Given the description of an element on the screen output the (x, y) to click on. 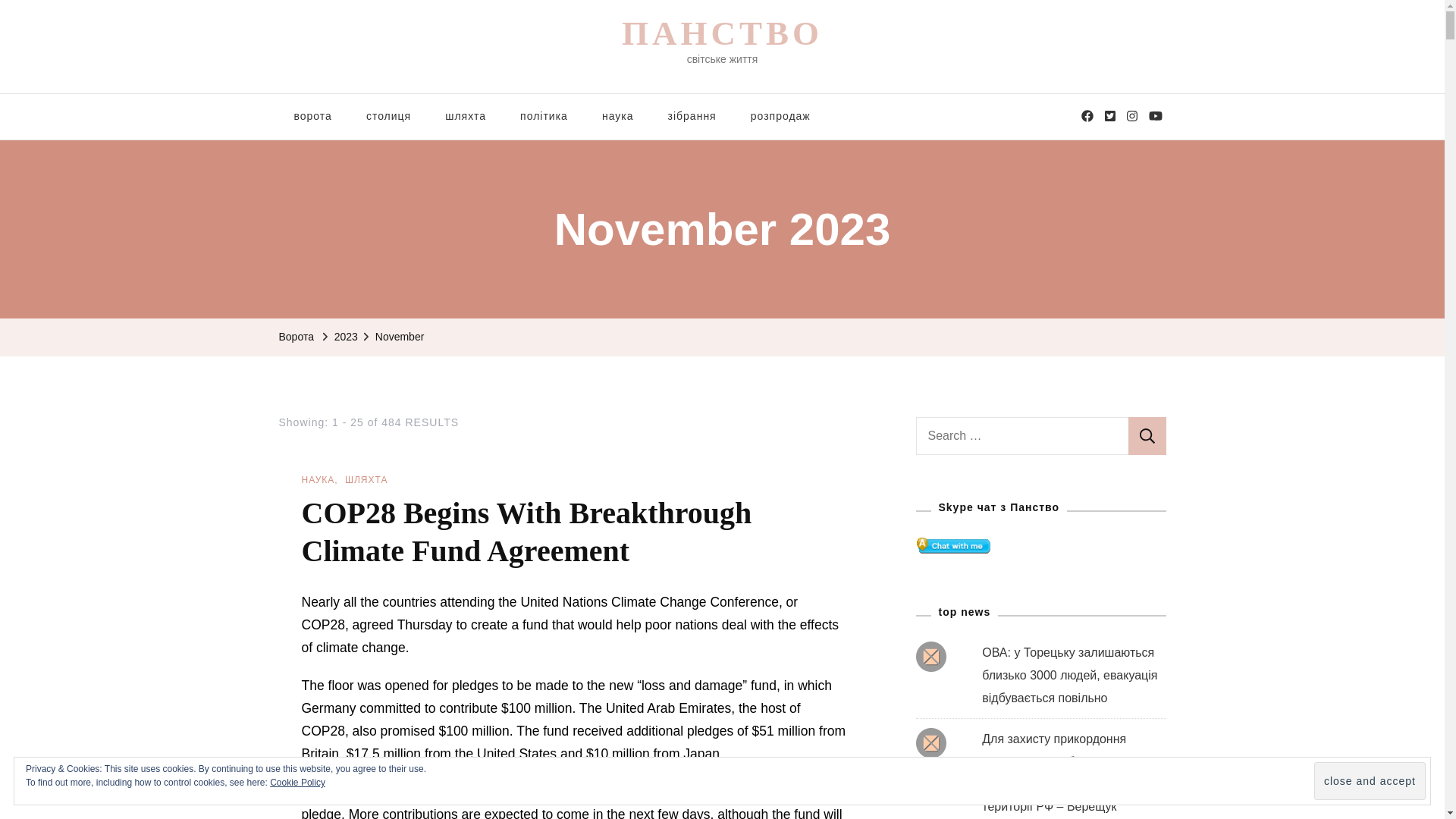
2023 (346, 336)
Search (1147, 435)
COP28 Begins With Breakthrough Climate Fund Agreement (526, 532)
November (400, 336)
Search (1147, 435)
close and accept (1369, 781)
